Given the description of an element on the screen output the (x, y) to click on. 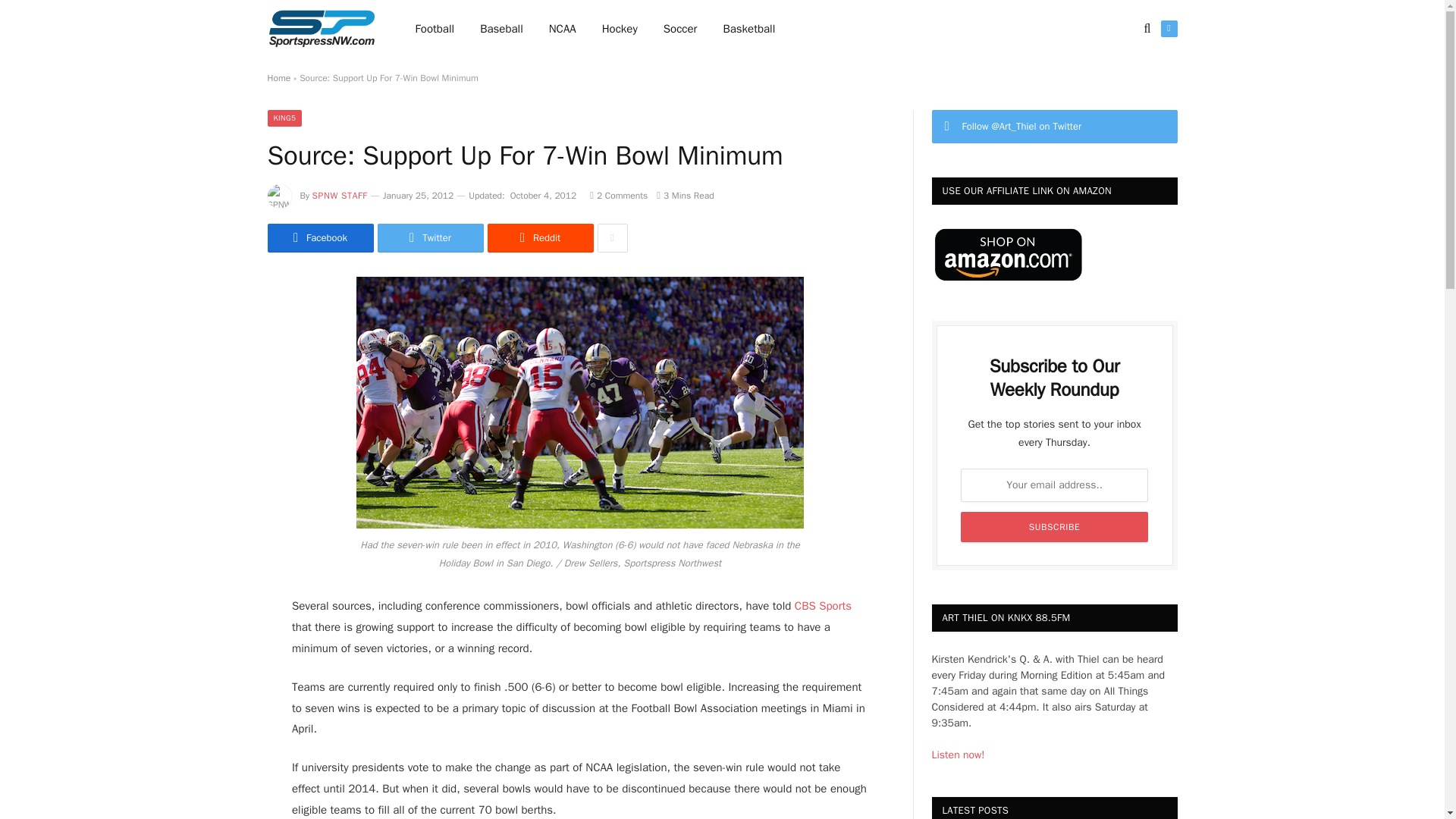
Sportspress Northwest (320, 28)
Facebook (319, 237)
Share on Reddit (539, 237)
Twitter (430, 237)
Home (277, 78)
SPNW STAFF (340, 195)
Basketball (748, 28)
Baseball (501, 28)
CBS Sports (822, 605)
2 Comments (618, 195)
